Given the description of an element on the screen output the (x, y) to click on. 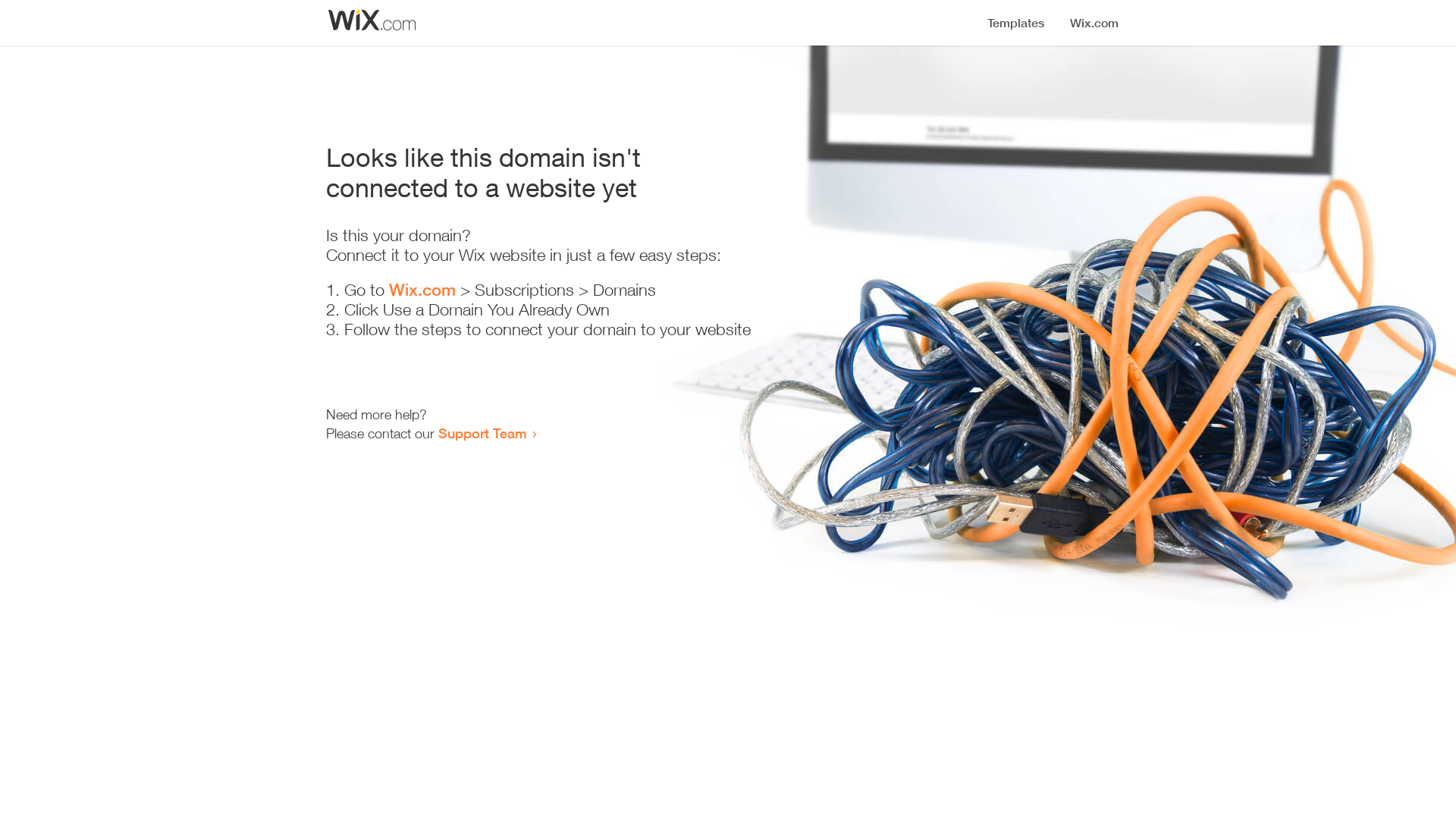
Support Team Element type: text (482, 432)
Wix.com Element type: text (422, 289)
